Given the description of an element on the screen output the (x, y) to click on. 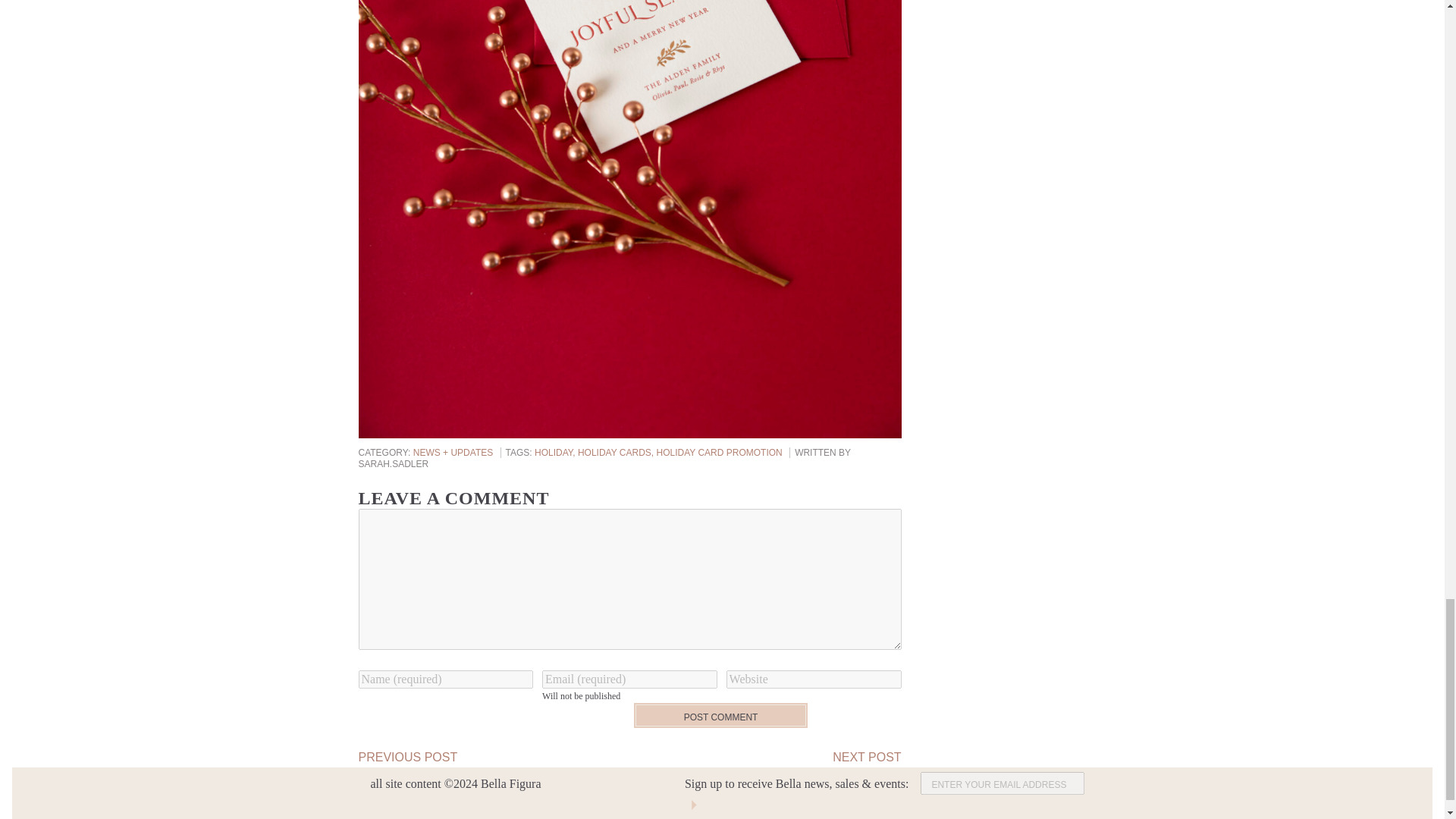
View all posts tagged with "holiday card promotion" (719, 452)
HOLIDAY CARD PROMOTION (719, 452)
PREVIOUS POST (407, 757)
NEXT POST (866, 757)
HOLIDAY (556, 452)
View all posts tagged with "Holiday" (556, 452)
Post Comment (719, 715)
View all posts tagged with "holiday cards" (617, 452)
Post Comment (719, 715)
HOLIDAY CARDS (617, 452)
